Given the description of an element on the screen output the (x, y) to click on. 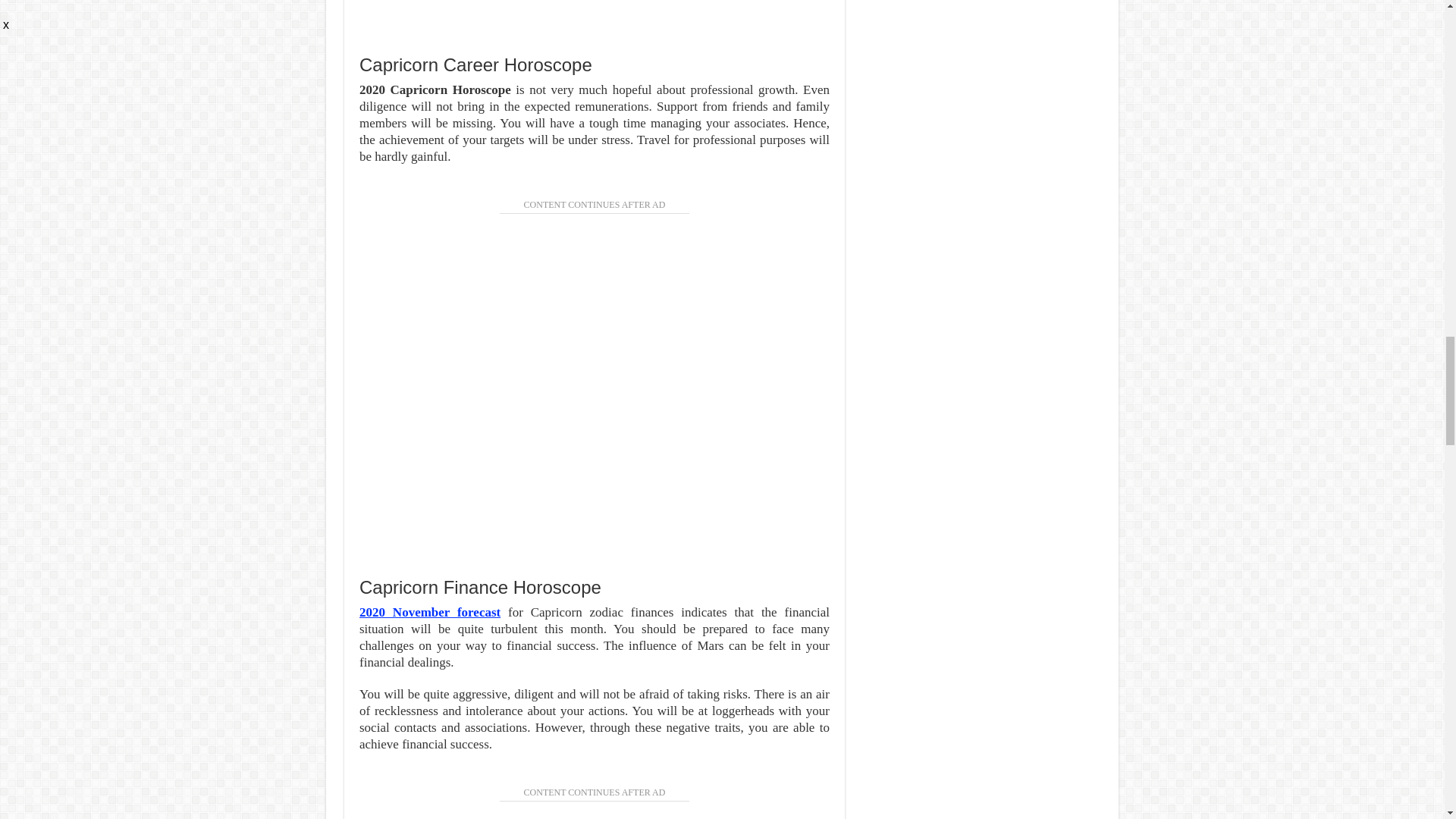
2020 November forecast (429, 612)
